Given the description of an element on the screen output the (x, y) to click on. 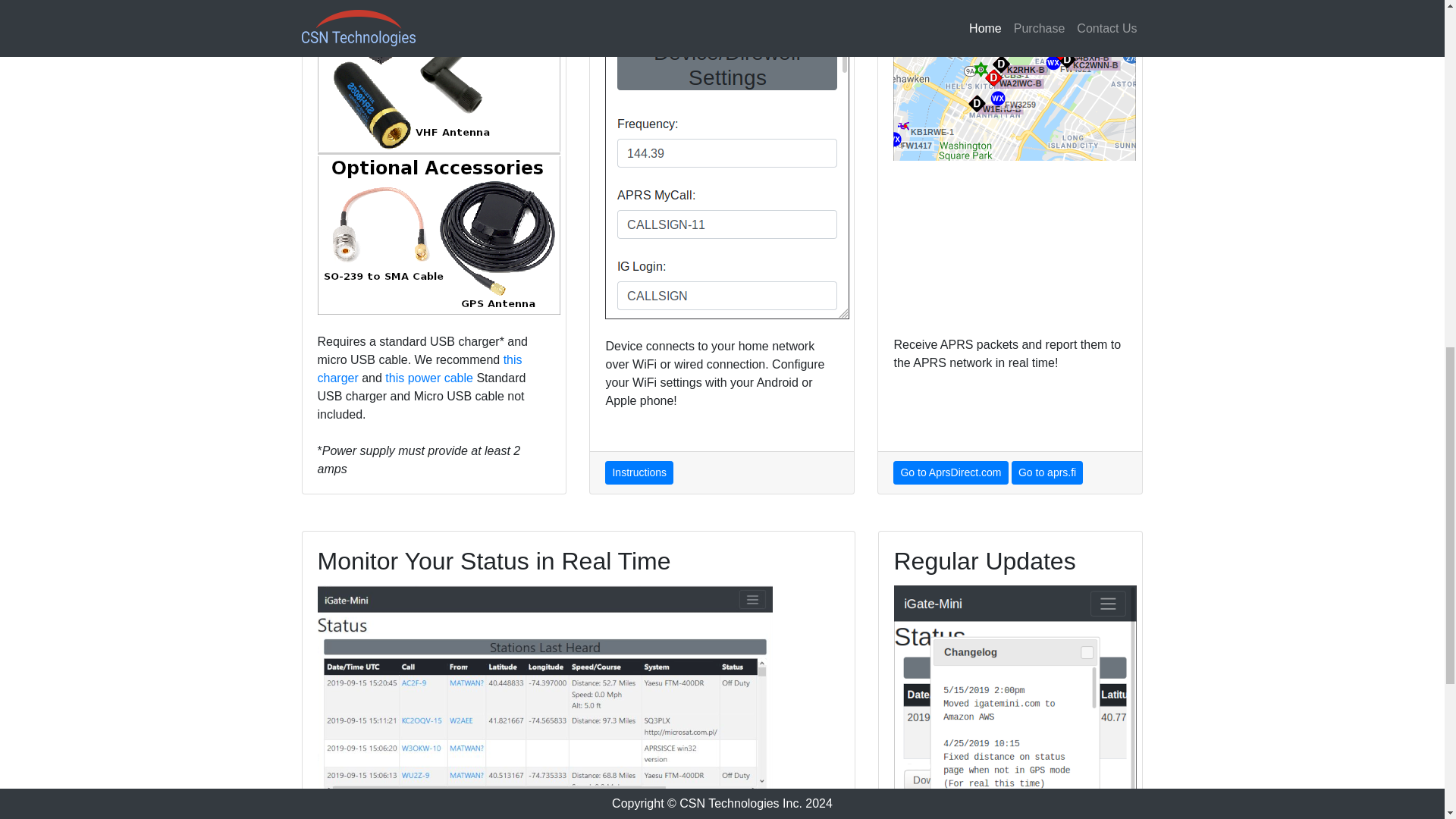
this charger (419, 368)
Go to aprs.fi (1047, 472)
Instructions (638, 472)
Go to AprsDirect.com (950, 472)
this power cable (429, 377)
